Given the description of an element on the screen output the (x, y) to click on. 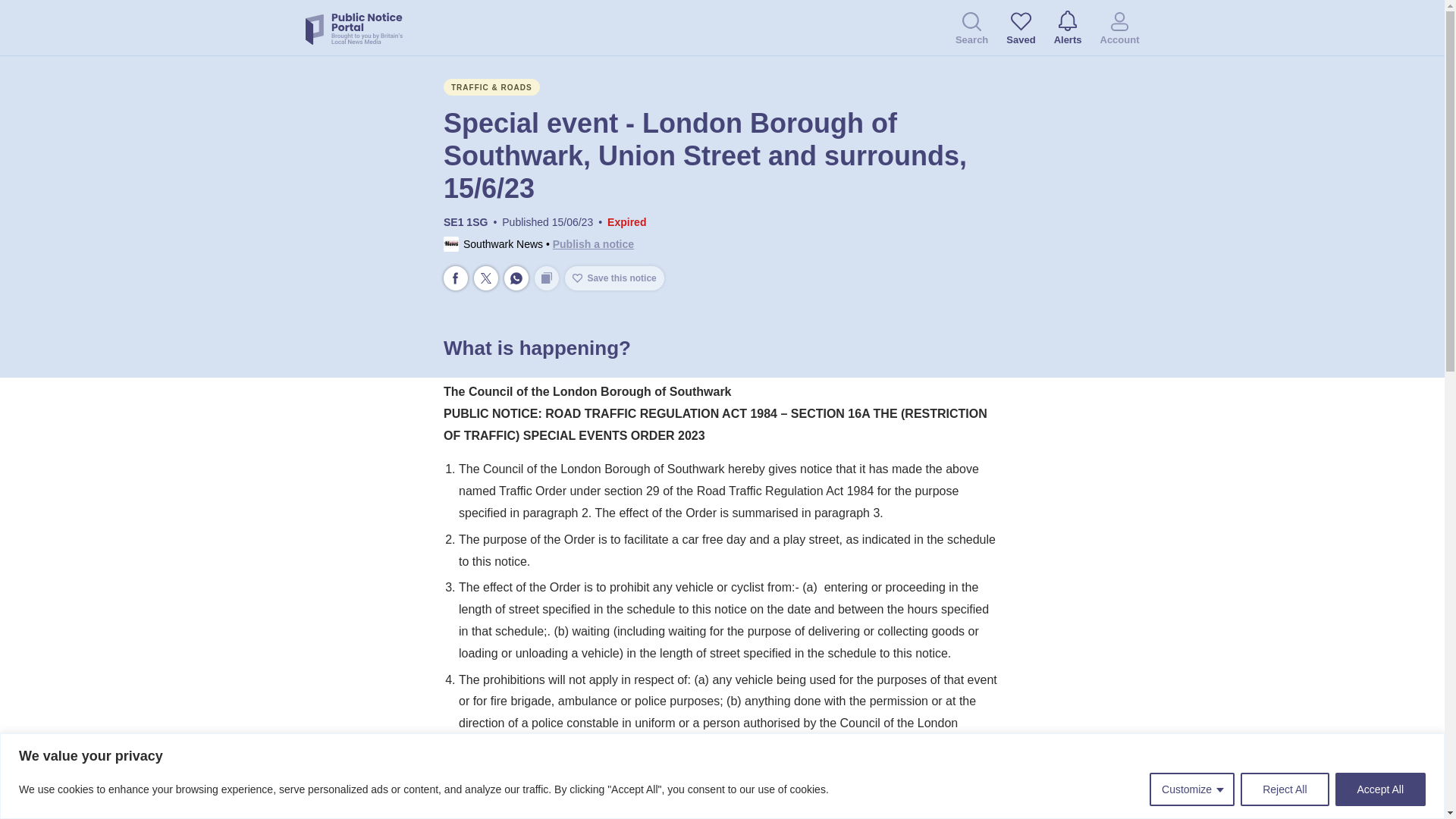
Accept All (1380, 788)
Customize (1192, 788)
Save this notice (613, 278)
Publish a notice (593, 244)
Account (1118, 29)
Search (971, 29)
Reject All (1283, 788)
